Given the description of an element on the screen output the (x, y) to click on. 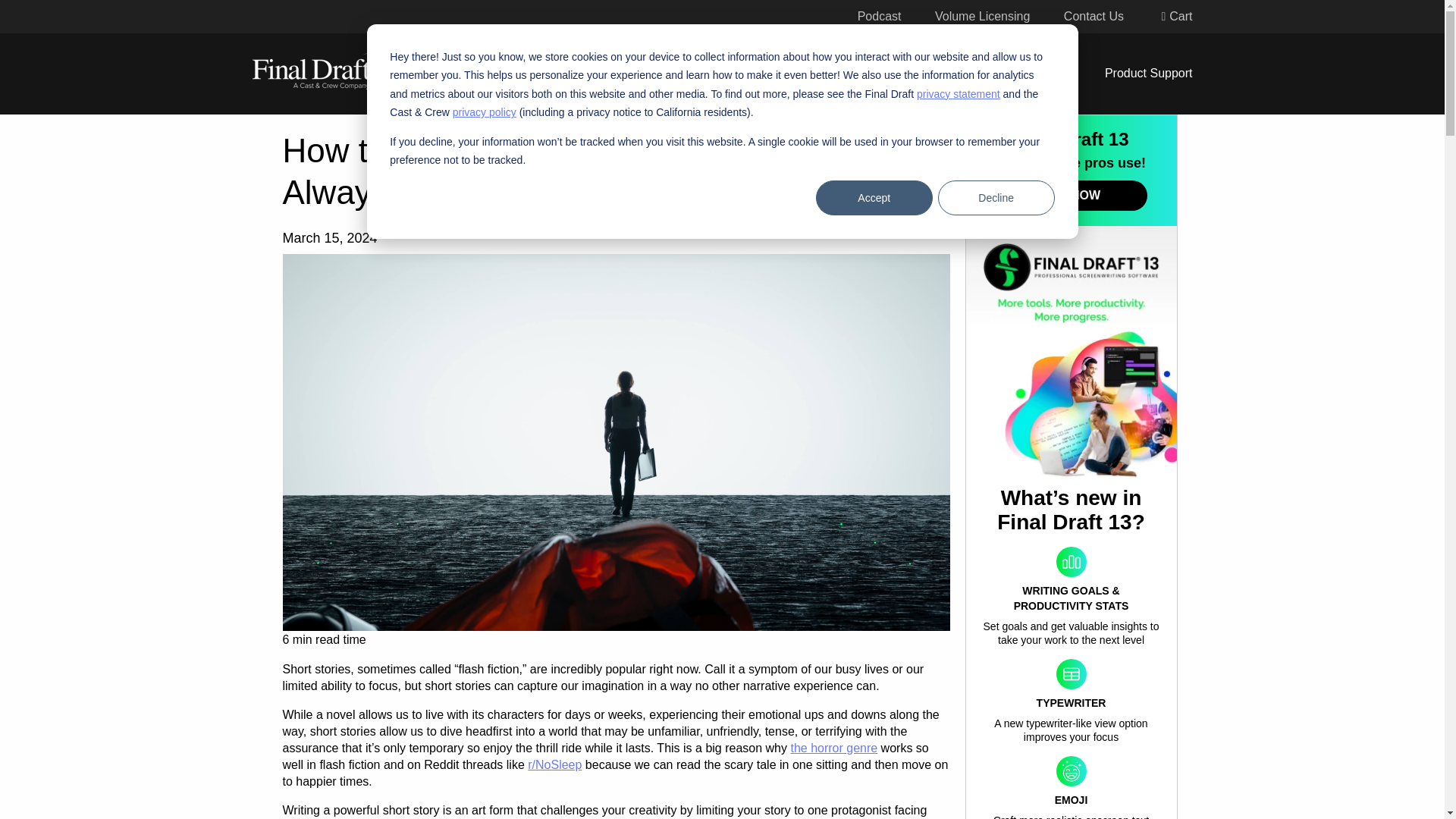
Big Break (887, 73)
the horror genre (833, 748)
Final Draft (324, 71)
Cart (1174, 15)
Product Support (1141, 73)
Podcast (879, 15)
Contact Us (1094, 15)
Podcast (879, 15)
Cart (1174, 15)
Contact Us (1094, 15)
Volume Licensing (981, 15)
Volume Licensing (981, 15)
